Given the description of an element on the screen output the (x, y) to click on. 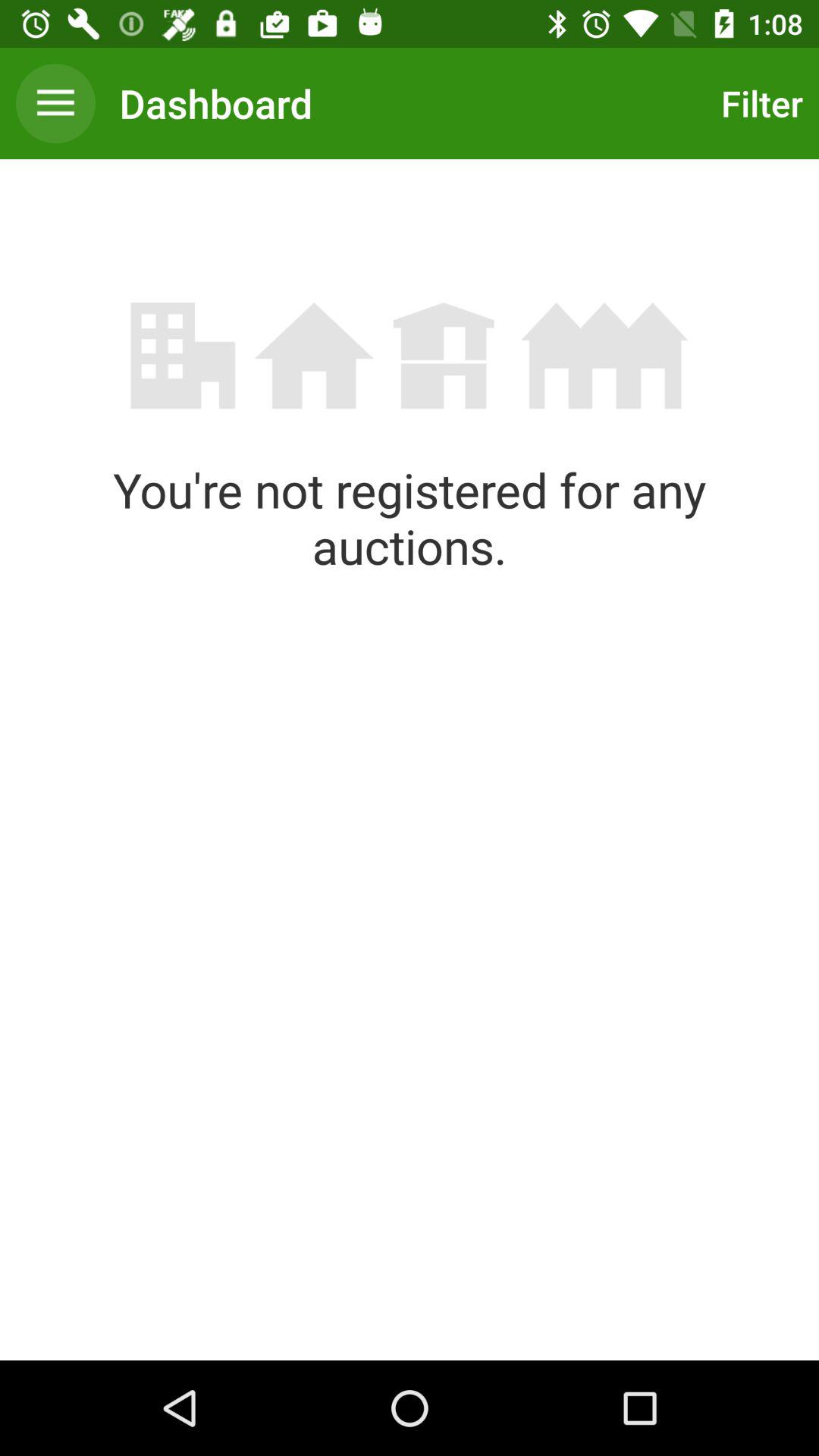
turn off filter (758, 103)
